Given the description of an element on the screen output the (x, y) to click on. 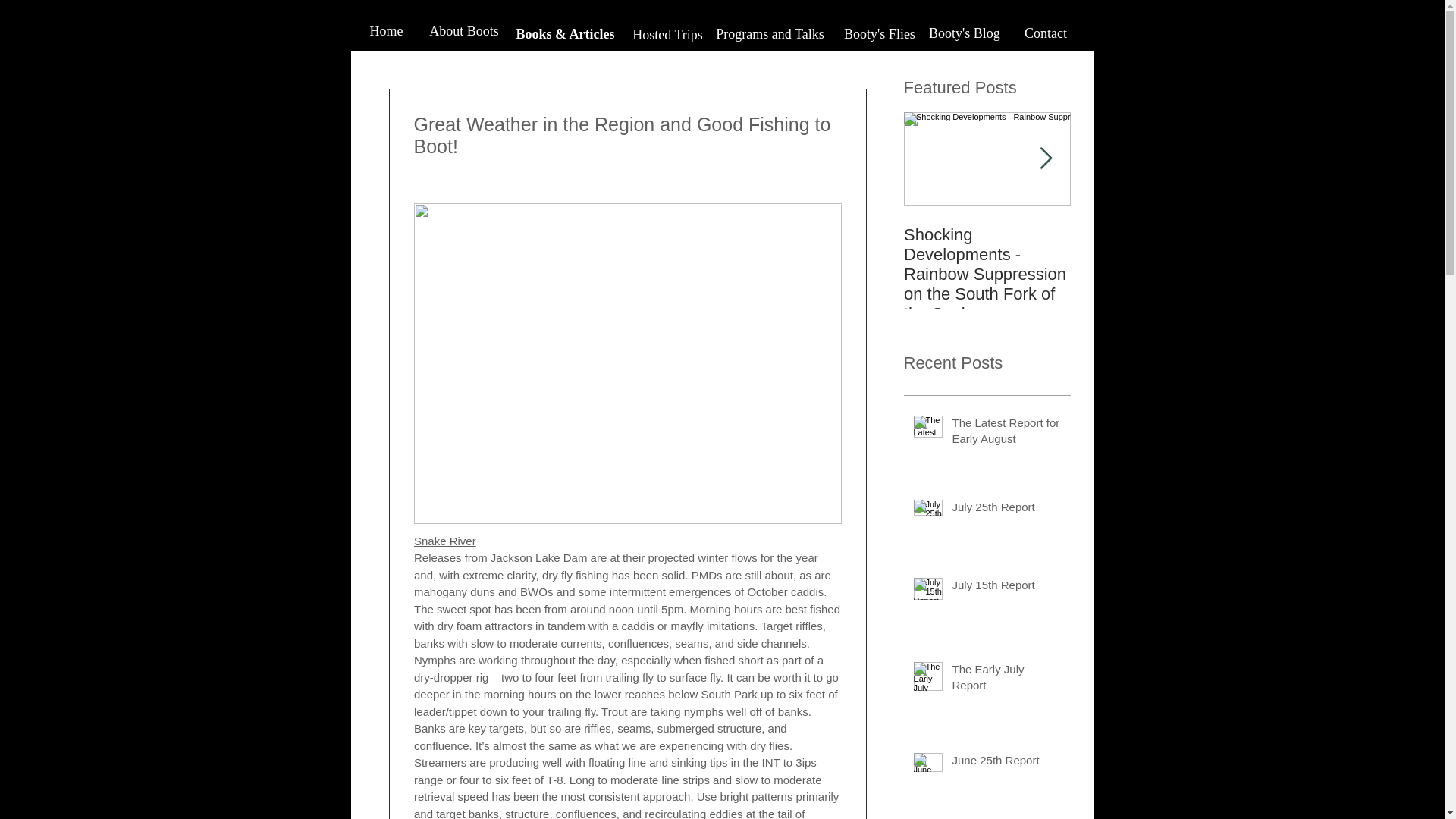
Programs and Talks (769, 34)
June 25th Report (1006, 762)
The Latest Report for Early August (1006, 433)
Home (386, 31)
The Early July Report (1006, 679)
Booty's Blog (963, 33)
July 15th Report (1006, 587)
Booty's Flies (879, 34)
